Given the description of an element on the screen output the (x, y) to click on. 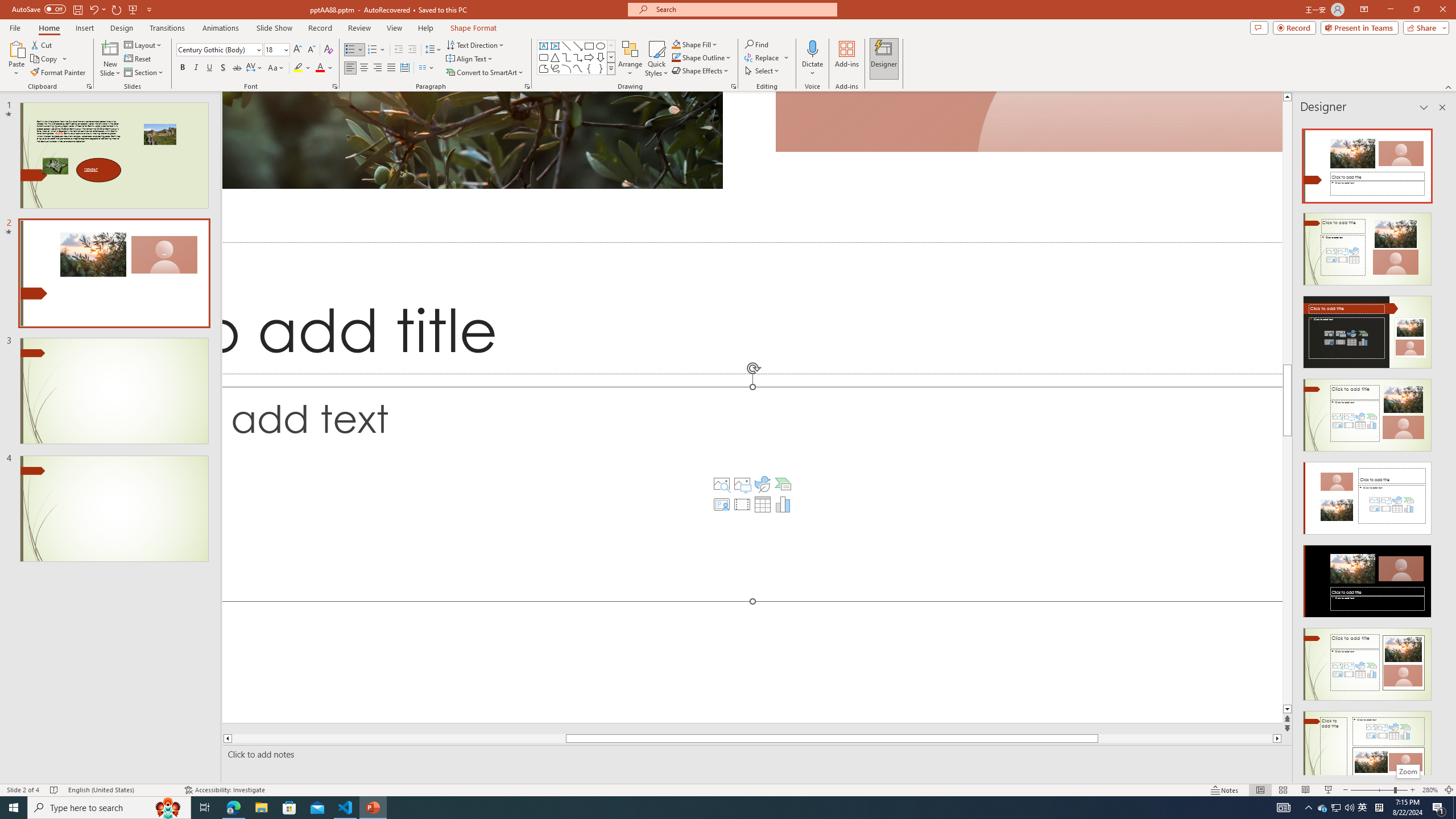
Designer (883, 58)
Text Highlight Color Yellow (297, 67)
Replace... (767, 56)
Class: NetUIScrollBar (1441, 447)
Save (77, 9)
Ribbon Display Options (1364, 9)
Camera 7, No camera detected. (1028, 122)
Insert an Icon (762, 484)
Line (566, 45)
Present in Teams (1359, 27)
Collapse the Ribbon (1448, 86)
Underline (209, 67)
Task Pane Options (1423, 107)
Open (285, 49)
Font... (334, 85)
